Given the description of an element on the screen output the (x, y) to click on. 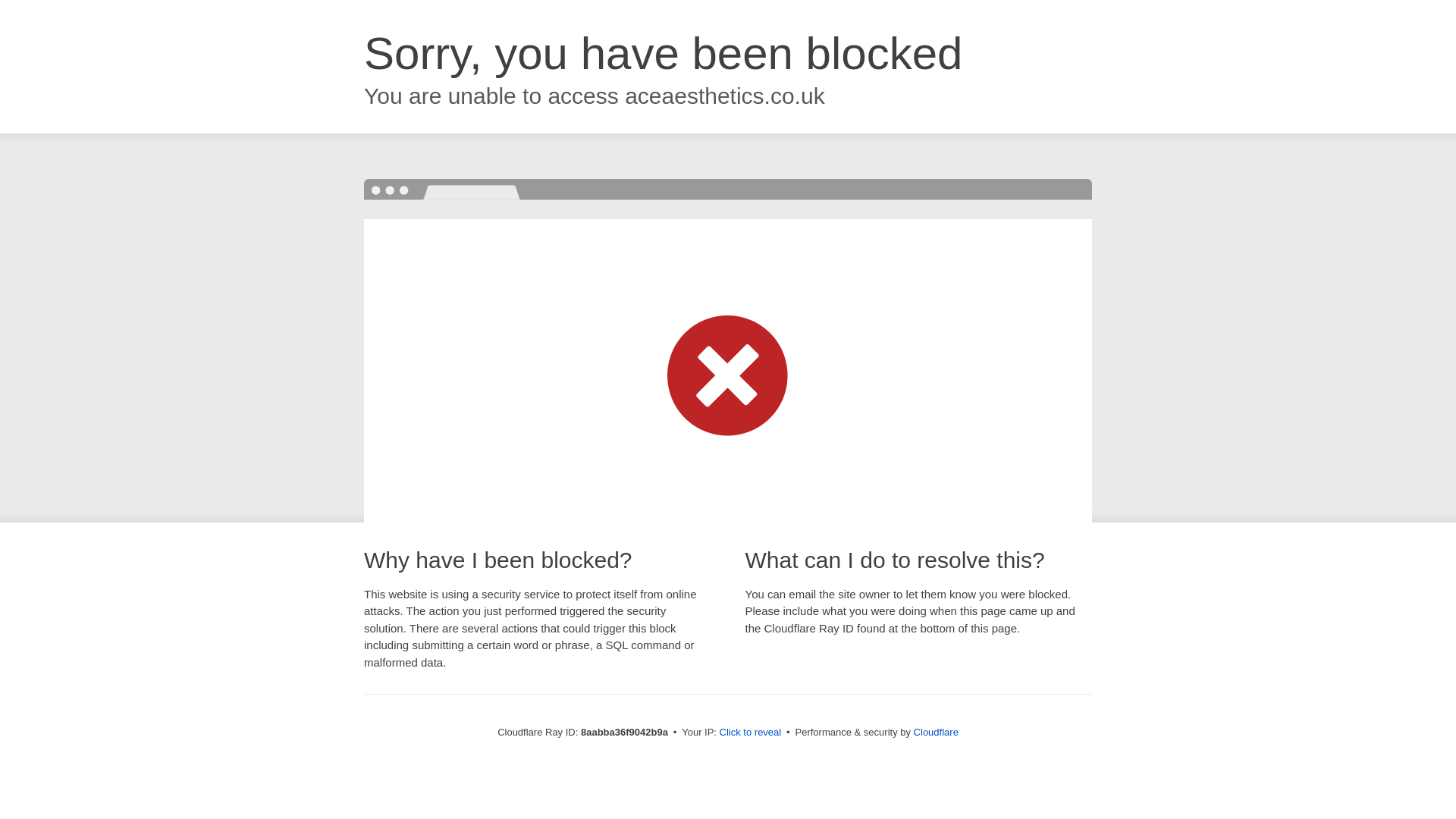
Click to reveal (750, 732)
Cloudflare (936, 731)
